Given the description of an element on the screen output the (x, y) to click on. 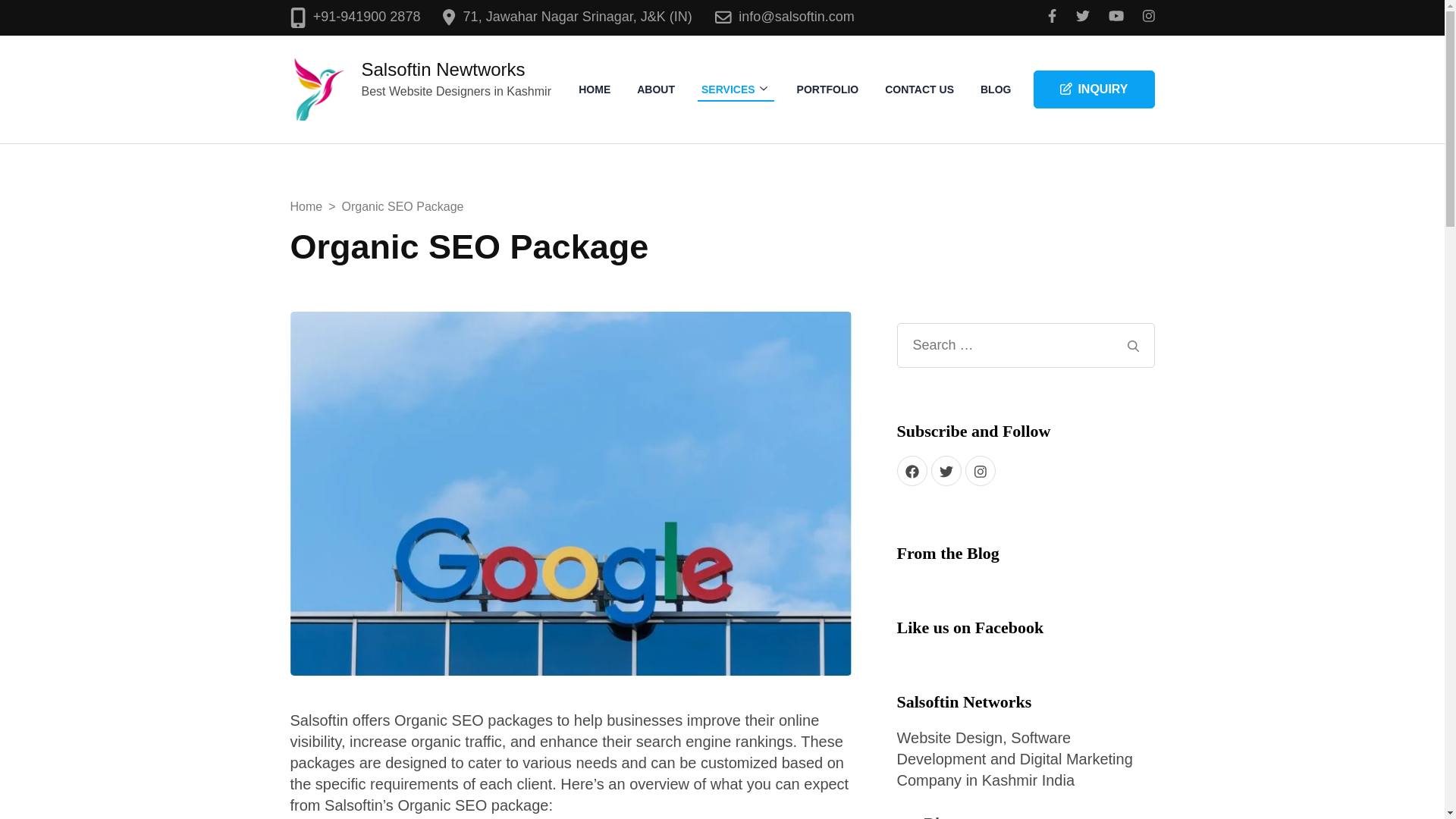
Search (1132, 346)
Salsoftin Newtworks (442, 68)
facebook (911, 470)
instagram (978, 470)
Search (1132, 346)
twitter (945, 470)
INQUIRY (1093, 89)
HOME (594, 88)
ABOUT (655, 88)
